Given the description of an element on the screen output the (x, y) to click on. 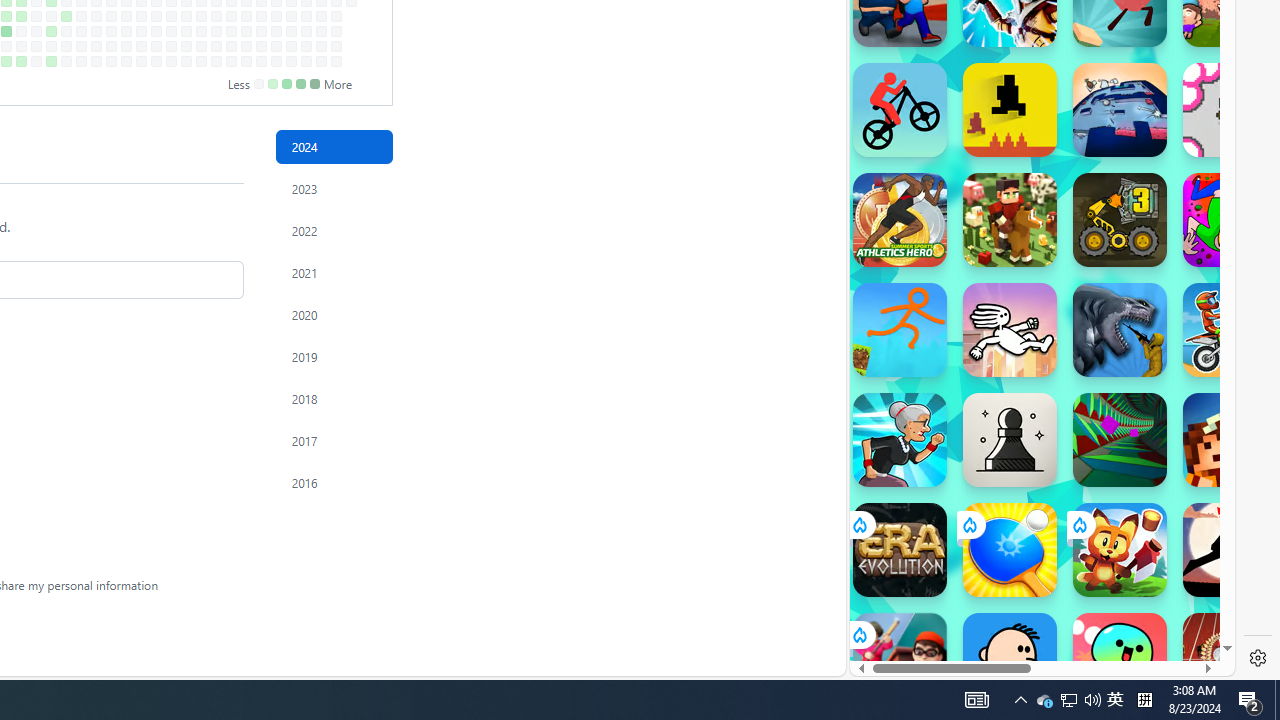
Crazy Cars (1217, 290)
No contributions on December 21st. (321, 61)
No contributions on August 23rd. (66, 46)
1 contribution on August 17th. (51, 61)
Ping Pong Go! (1009, 549)
No contributions on October 16th. (186, 16)
No contributions on October 5th. (156, 61)
Tunnel Rush Tunnel Rush (1119, 439)
No contributions on August 2nd. (20, 46)
Tunnel Rush (1119, 439)
Moto X3M (1229, 329)
Poor Eddie Poor Eddie (1009, 659)
No contributions on October 4th. (156, 46)
Stickman Bike (899, 109)
Fox Island Builder (1119, 549)
